Given the description of an element on the screen output the (x, y) to click on. 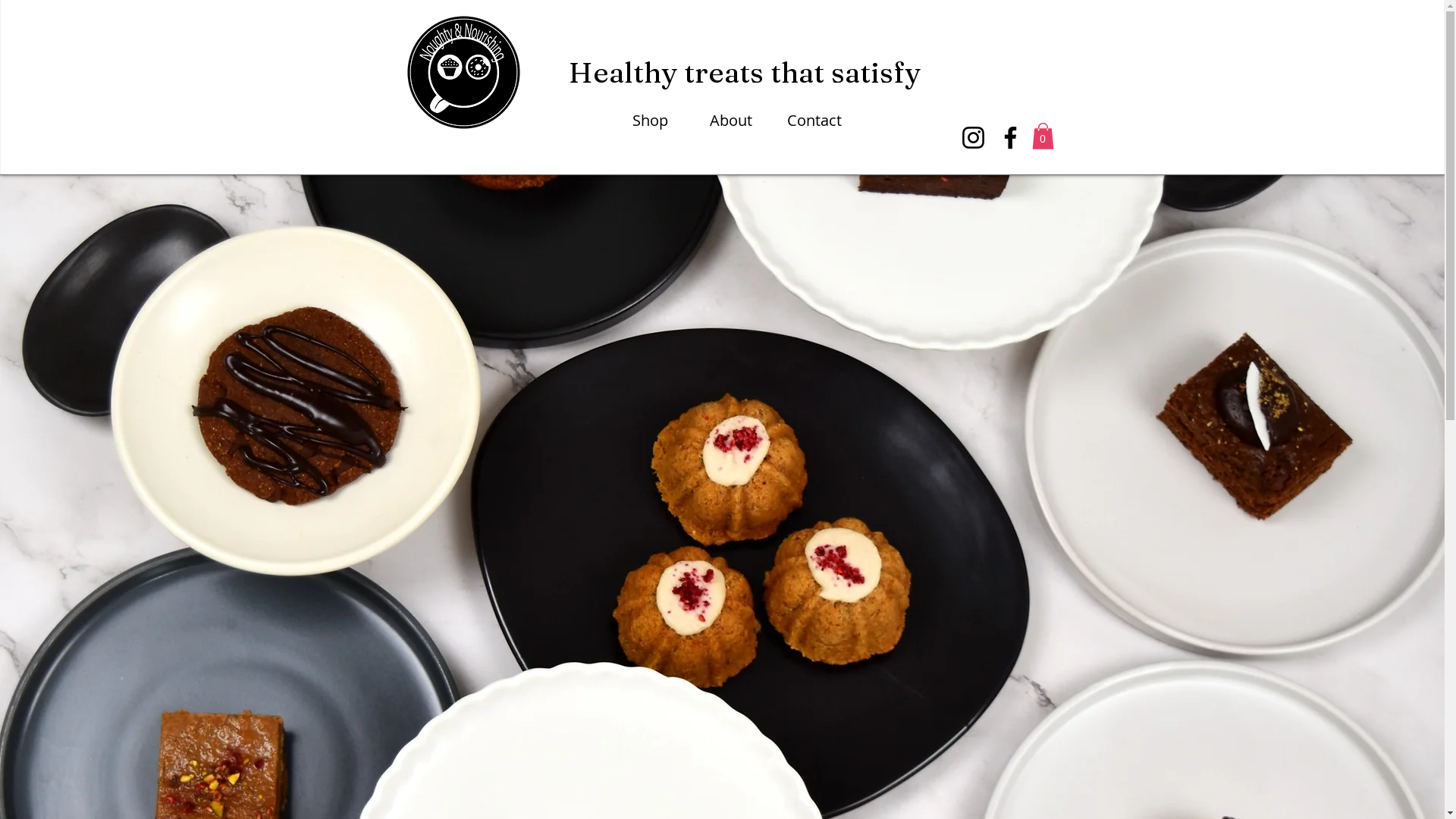
About Element type: text (736, 120)
Contact Element type: text (813, 120)
0 Element type: text (1042, 135)
Shop Element type: text (658, 120)
